Given the description of an element on the screen output the (x, y) to click on. 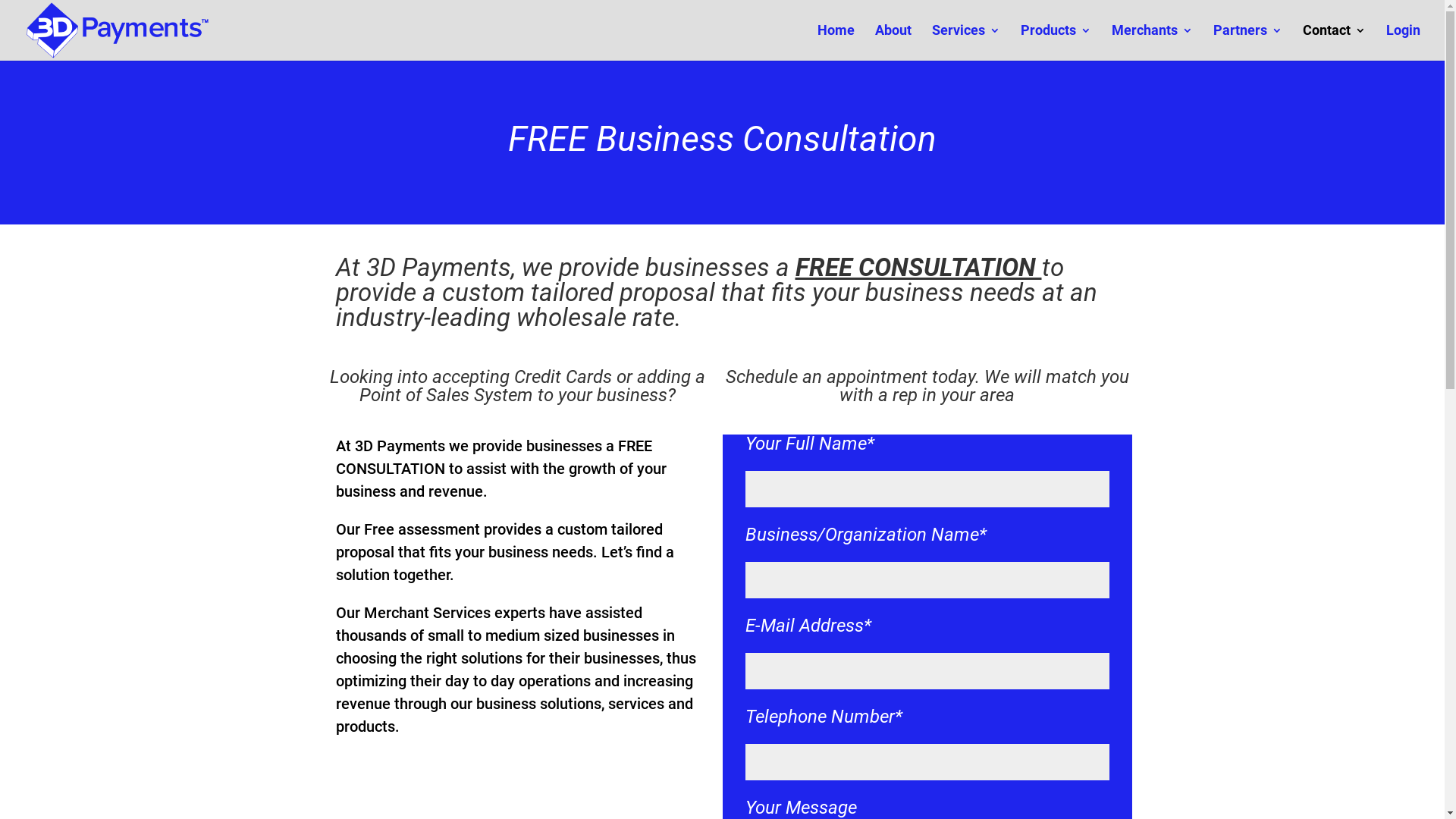
Login Element type: text (1403, 42)
Home Element type: text (835, 42)
Products Element type: text (1055, 42)
Services Element type: text (965, 42)
Merchants Element type: text (1151, 42)
Contact Element type: text (1333, 42)
About Element type: text (893, 42)
Partners Element type: text (1247, 42)
